Given the description of an element on the screen output the (x, y) to click on. 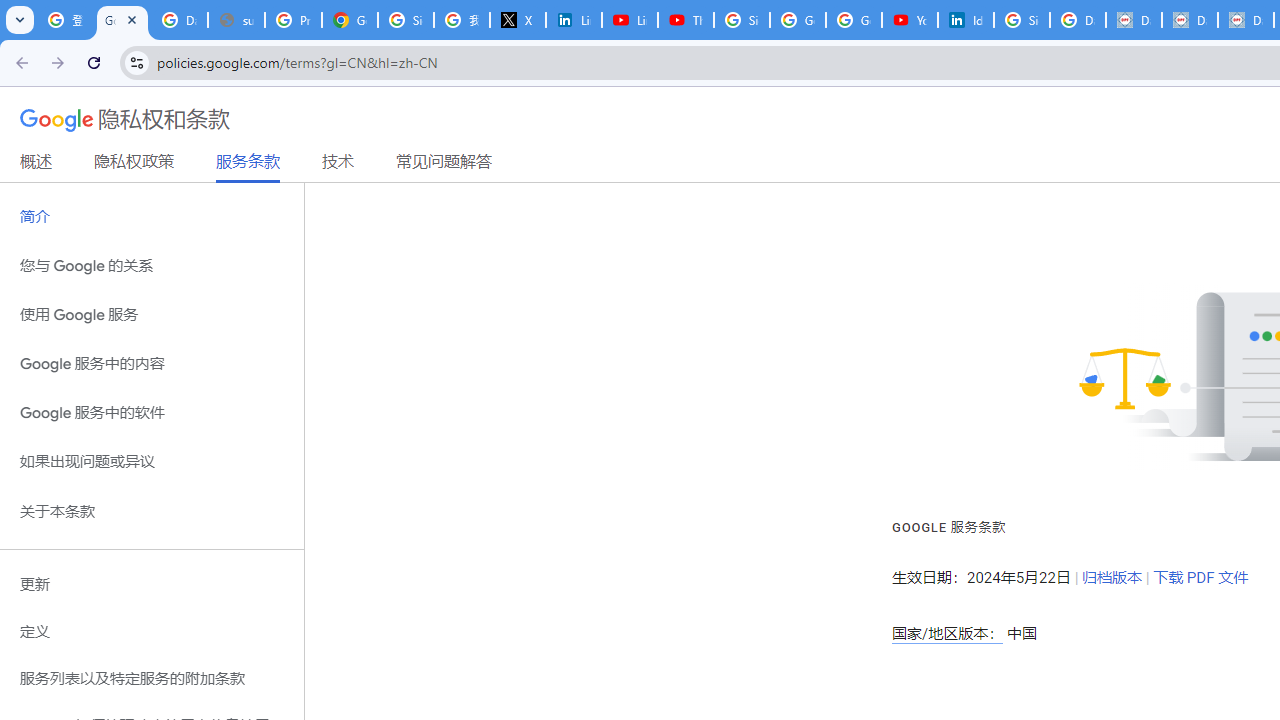
support.google.com - Network error (235, 20)
X (518, 20)
